Given the description of an element on the screen output the (x, y) to click on. 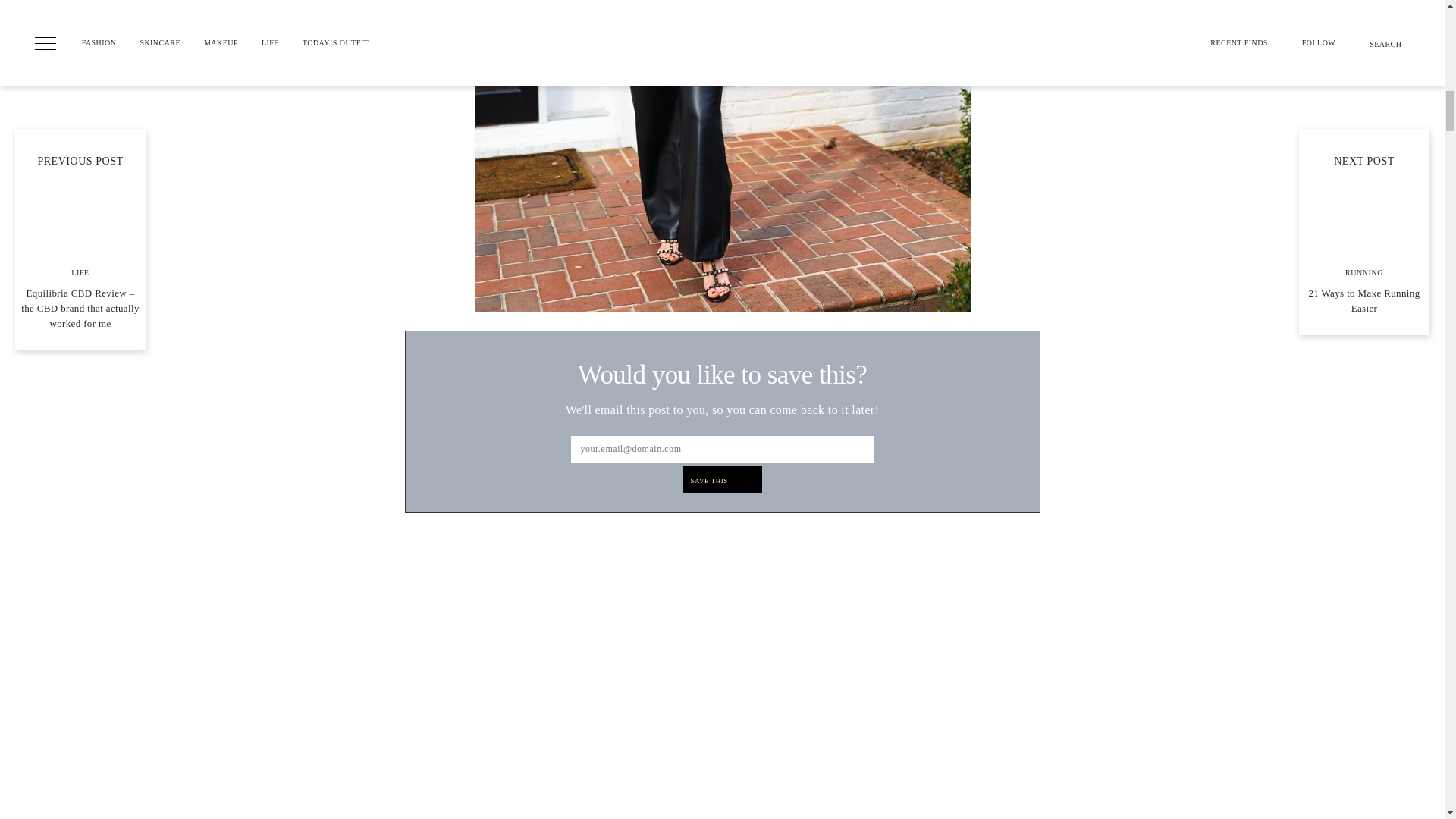
Save This (721, 479)
